Given the description of an element on the screen output the (x, y) to click on. 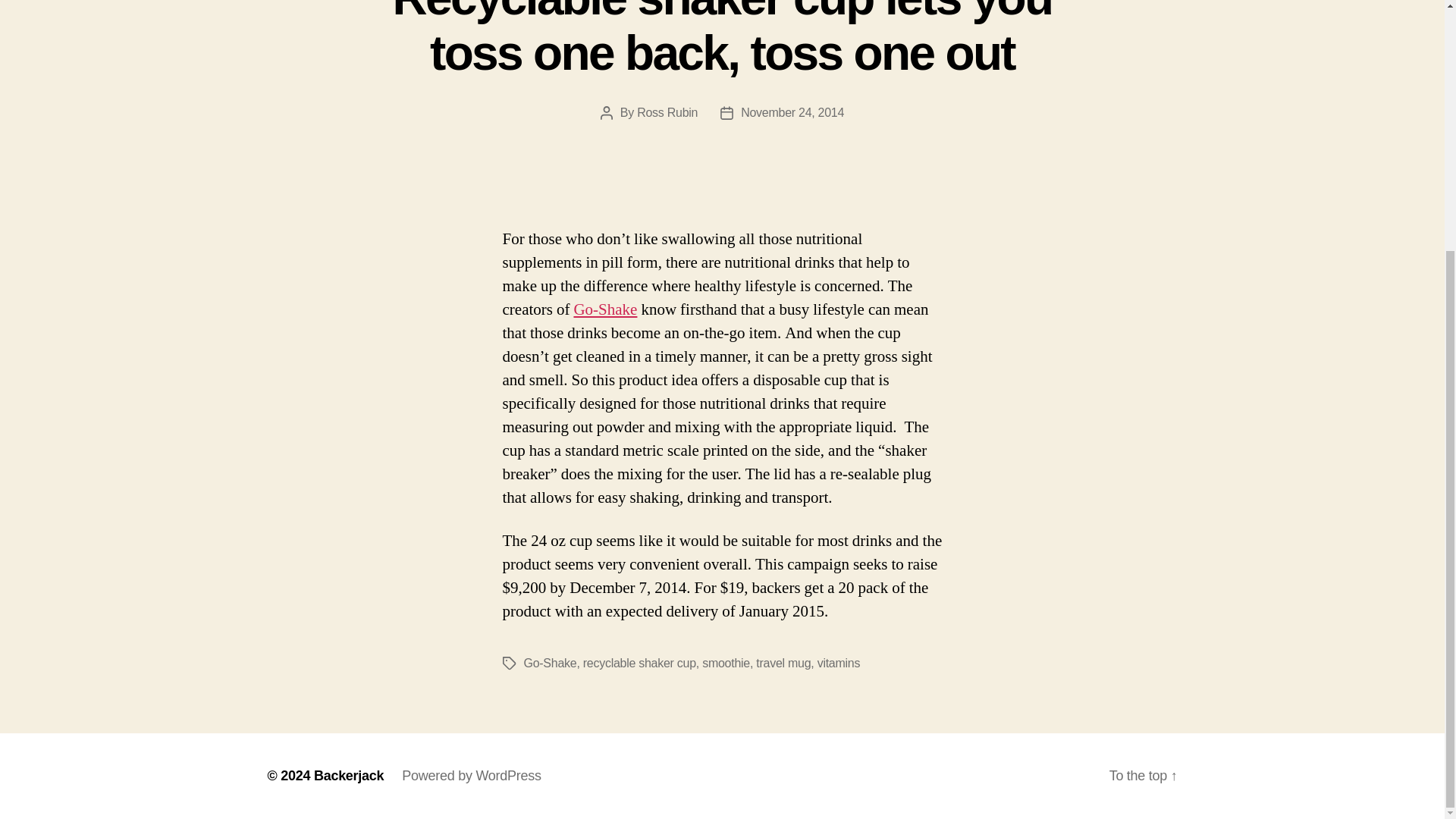
Recyclable shaker cup lets you toss one back, toss one out (722, 40)
recyclable shaker cup (639, 662)
travel mug (782, 662)
November 24, 2014 (792, 112)
Ross Rubin (667, 112)
Go-Shake (549, 662)
smoothie (725, 662)
Go-Shake (605, 309)
Backerjack (349, 775)
vitamins (838, 662)
